Given the description of an element on the screen output the (x, y) to click on. 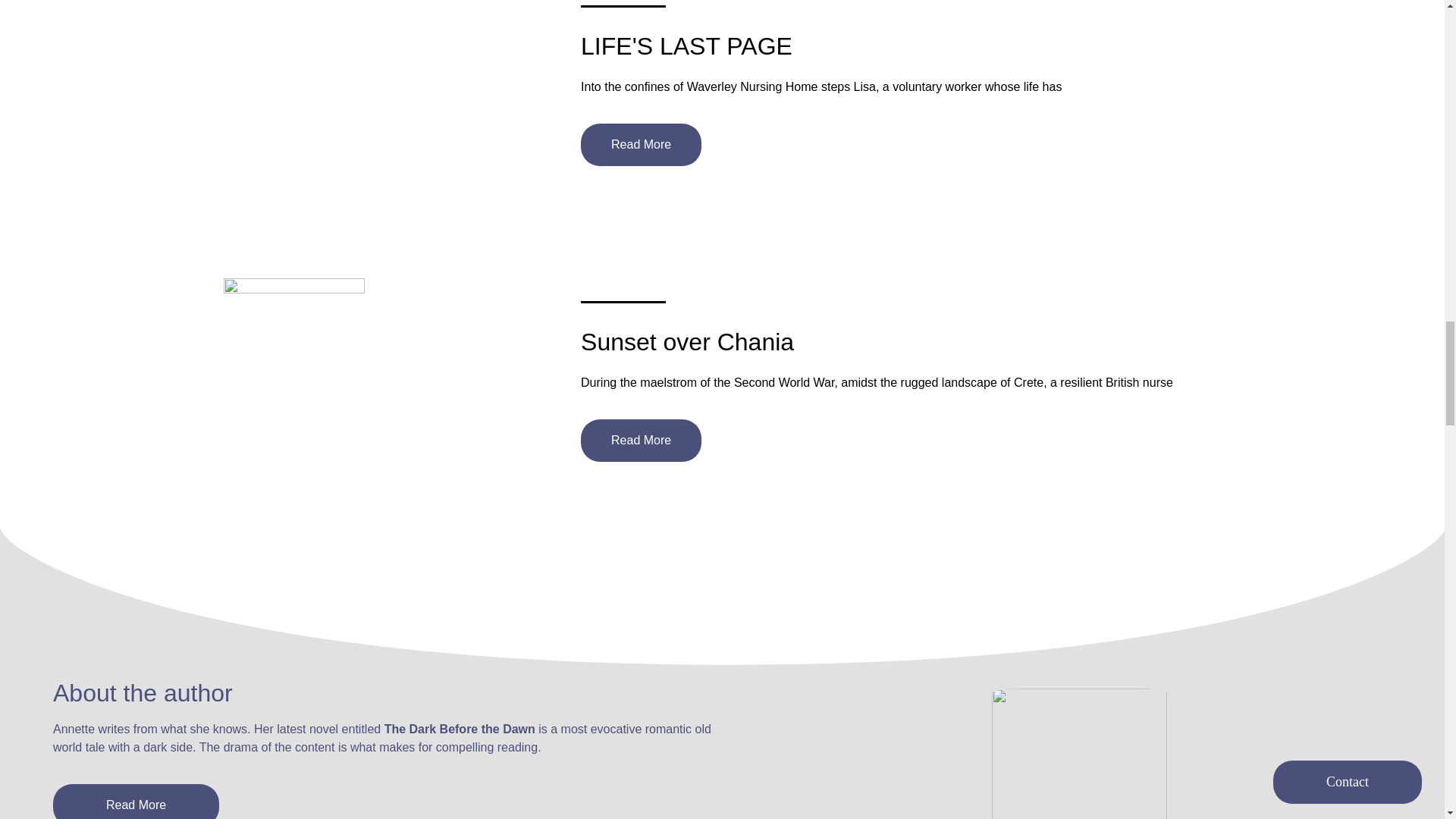
Read More (640, 144)
Read More (135, 801)
Read More (640, 440)
